Given the description of an element on the screen output the (x, y) to click on. 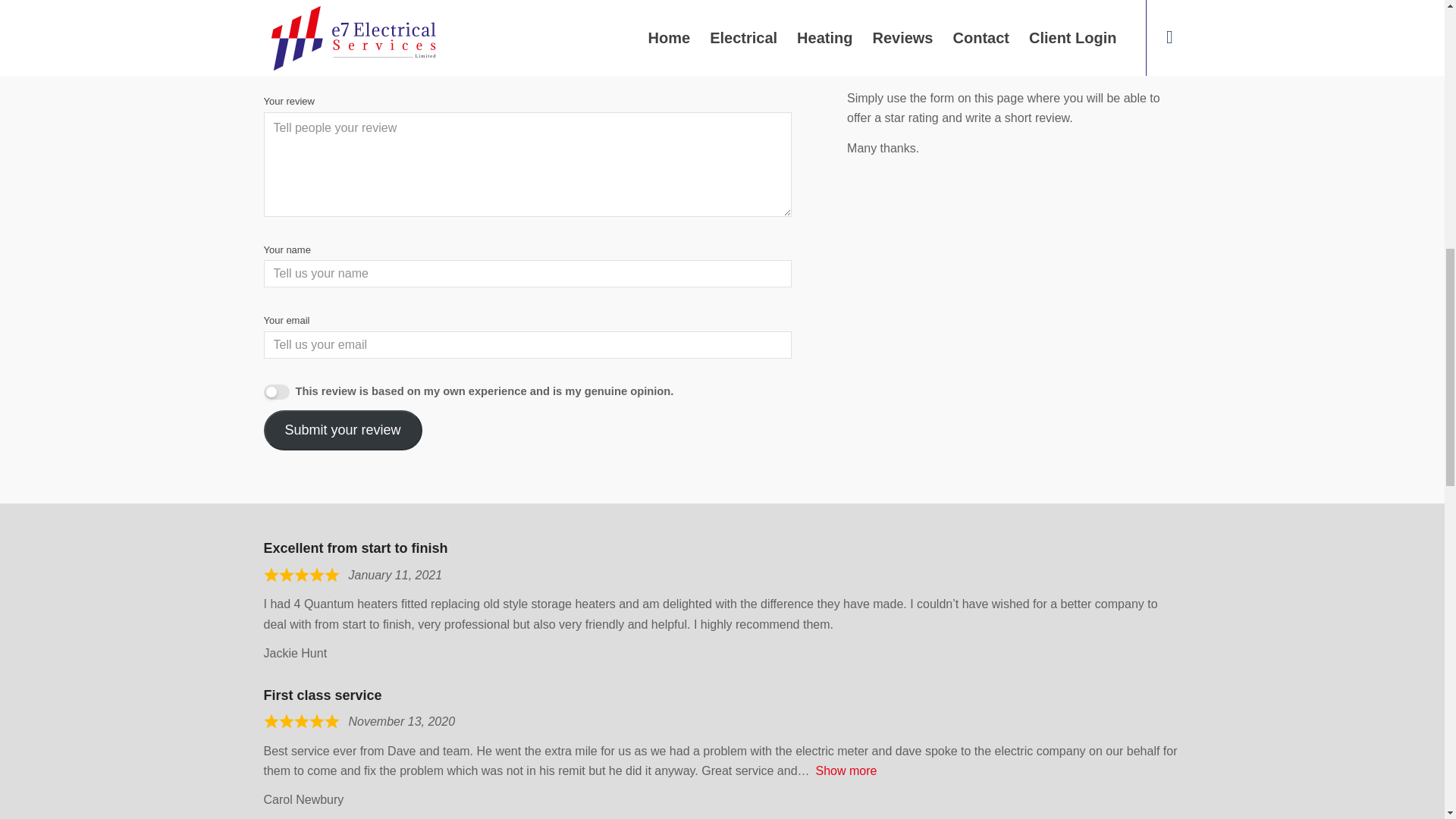
Show more (846, 770)
Submit your review (342, 430)
1 (276, 391)
